Given the description of an element on the screen output the (x, y) to click on. 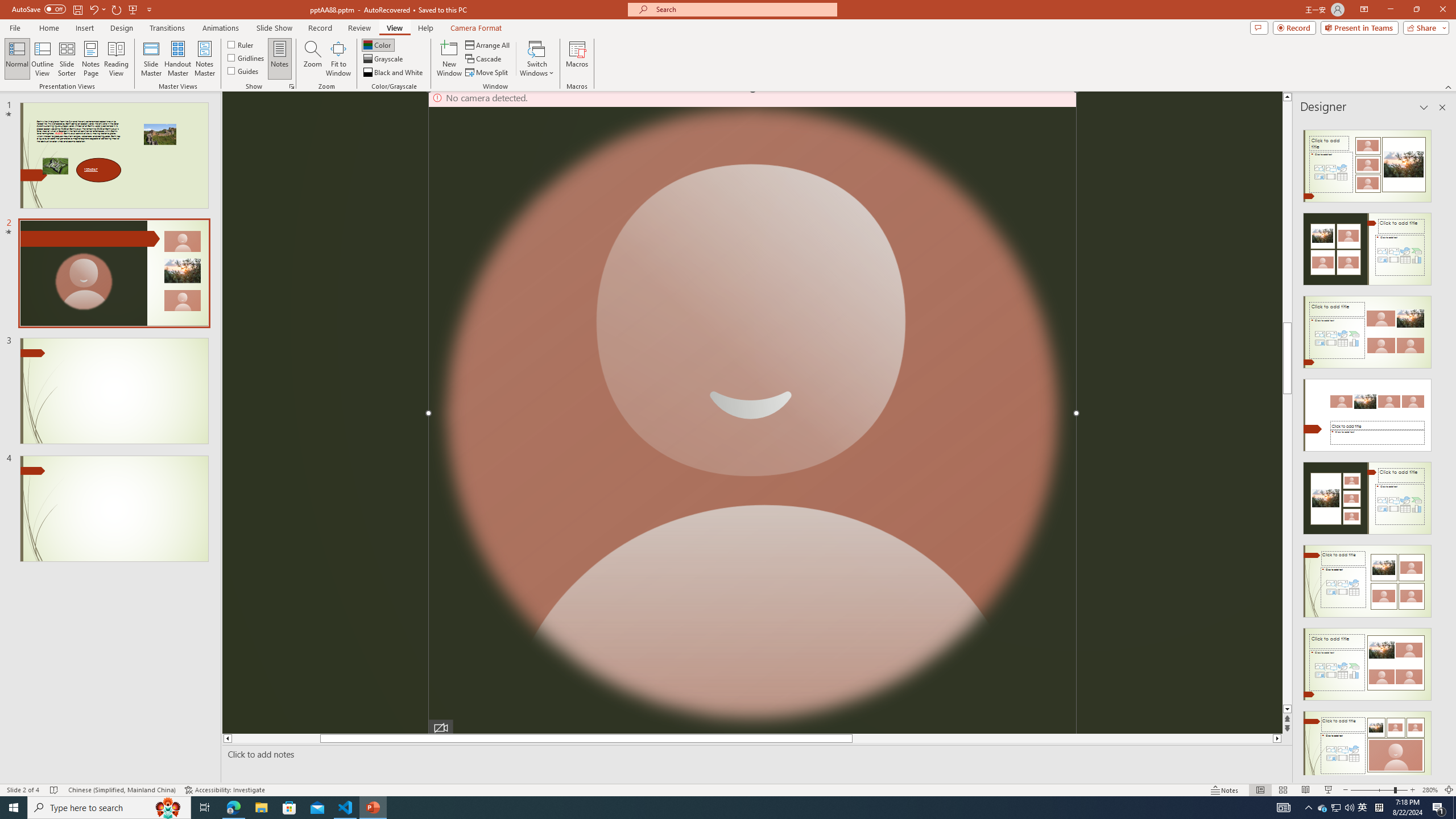
Macros (576, 58)
Fit to Window (338, 58)
Camera 19, No camera detected. (752, 412)
Transitions (167, 28)
Arrange All (488, 44)
Class: NetUIScrollBar (1441, 447)
Review (359, 28)
Recommended Design: Design Idea (1366, 162)
Line up (1287, 96)
Design (122, 28)
Microsoft search (742, 9)
Slide (114, 508)
